Given the description of an element on the screen output the (x, y) to click on. 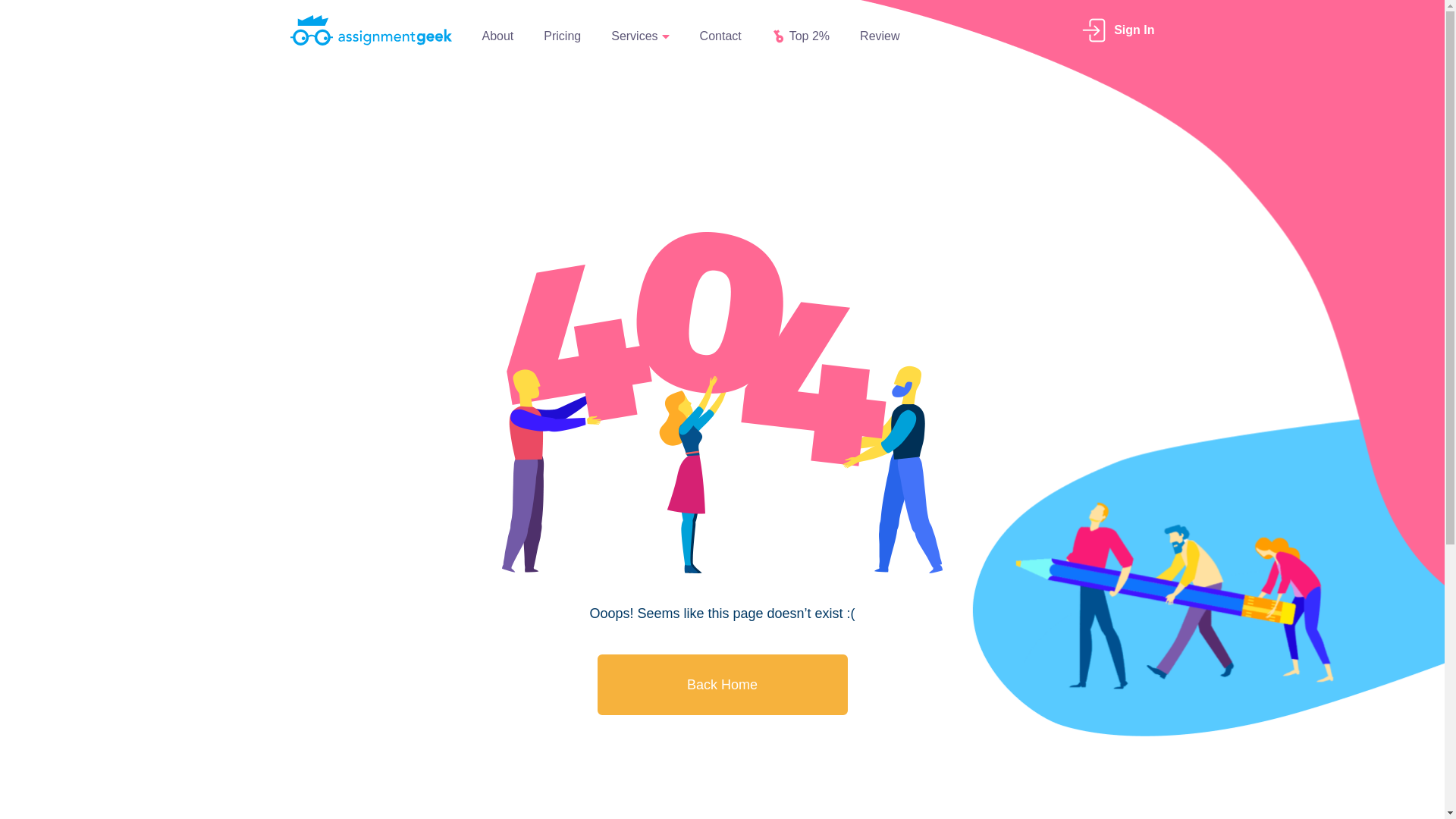
Services (639, 36)
Pricing (561, 36)
About (497, 36)
